Given the description of an element on the screen output the (x, y) to click on. 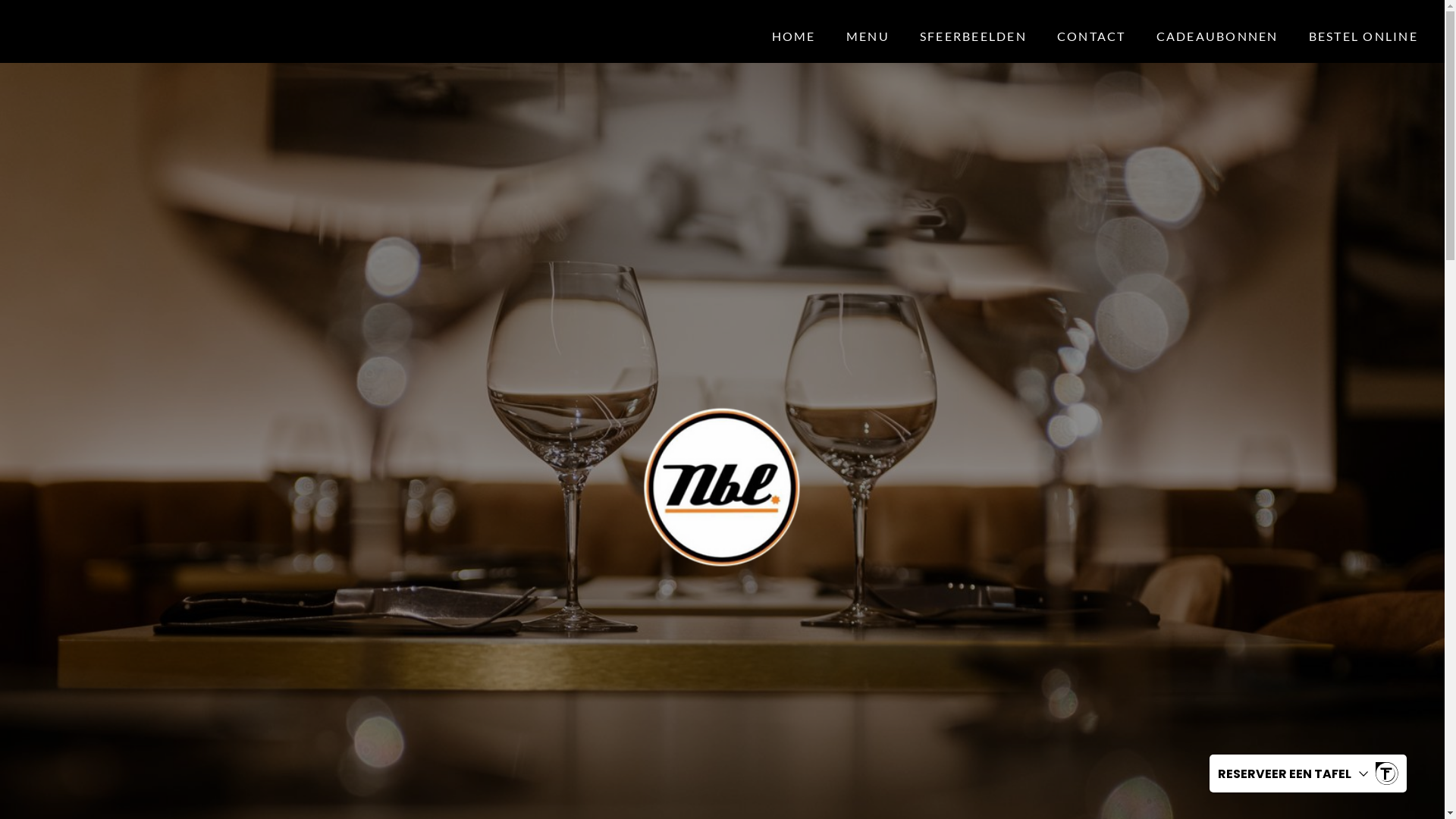
CADEAUBONNEN Element type: text (1217, 35)
CONTACT Element type: text (1091, 35)
MENU Element type: text (867, 35)
SFEERBEELDEN Element type: text (972, 35)
BESTEL ONLINE Element type: text (1363, 35)
HOME Element type: text (793, 35)
